Given the description of an element on the screen output the (x, y) to click on. 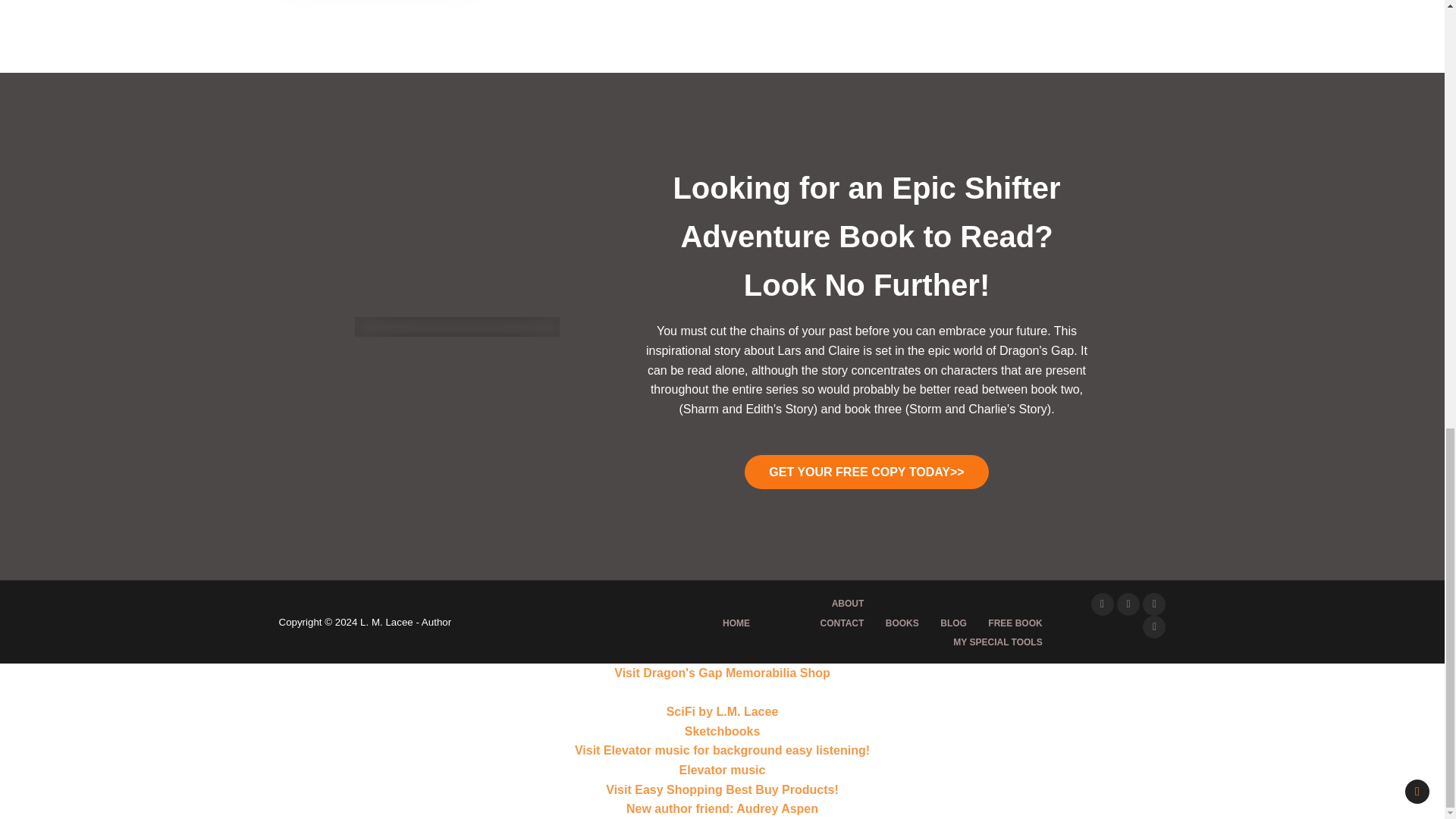
ABOUT (847, 603)
MY SPECIAL TOOLS (997, 642)
Visit Elevator music for background easy listening! (722, 749)
BLOG (953, 623)
BOOKS (902, 623)
Elevator music (722, 769)
FREE BOOK (1014, 623)
Sketchbooks (722, 730)
SciFi by L.M. Lacee (722, 711)
Visit Dragon's Gap Memorabilia Shop (721, 672)
